Given the description of an element on the screen output the (x, y) to click on. 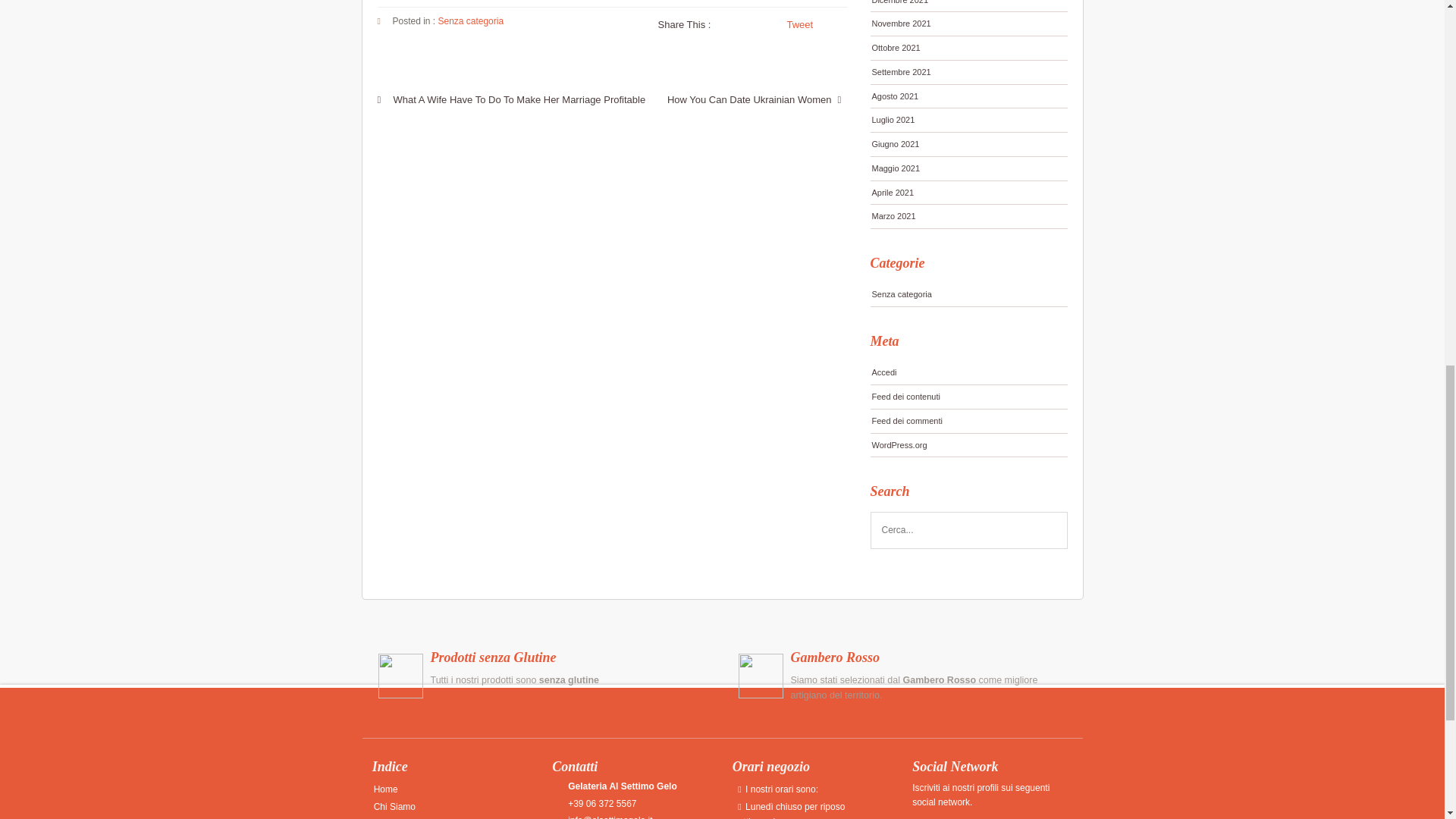
What A Wife Have To Do To Make Her Marriage Profitable (511, 99)
Cerca (1049, 531)
Cerca (1049, 531)
Senza categoria (470, 20)
Tweet (800, 24)
How You Can Date Ukrainian Women (756, 99)
